Given the description of an element on the screen output the (x, y) to click on. 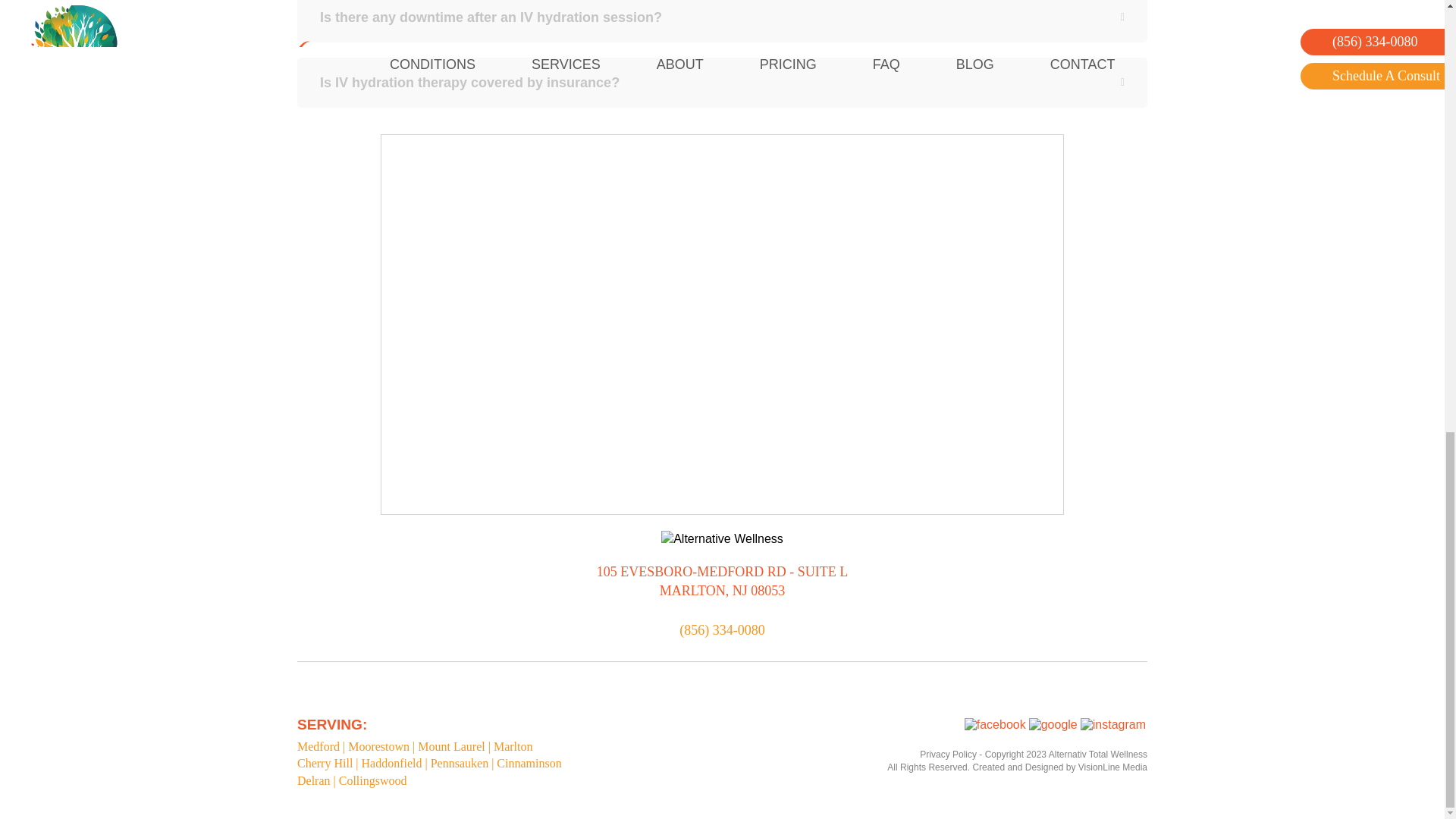
Moorestown (378, 746)
instagram (1112, 724)
facebook (994, 724)
google (1053, 725)
google (1052, 724)
Mount Laurel (450, 746)
facebook (994, 725)
Medford (318, 746)
Marlton (512, 746)
instagram (1112, 725)
